Given the description of an element on the screen output the (x, y) to click on. 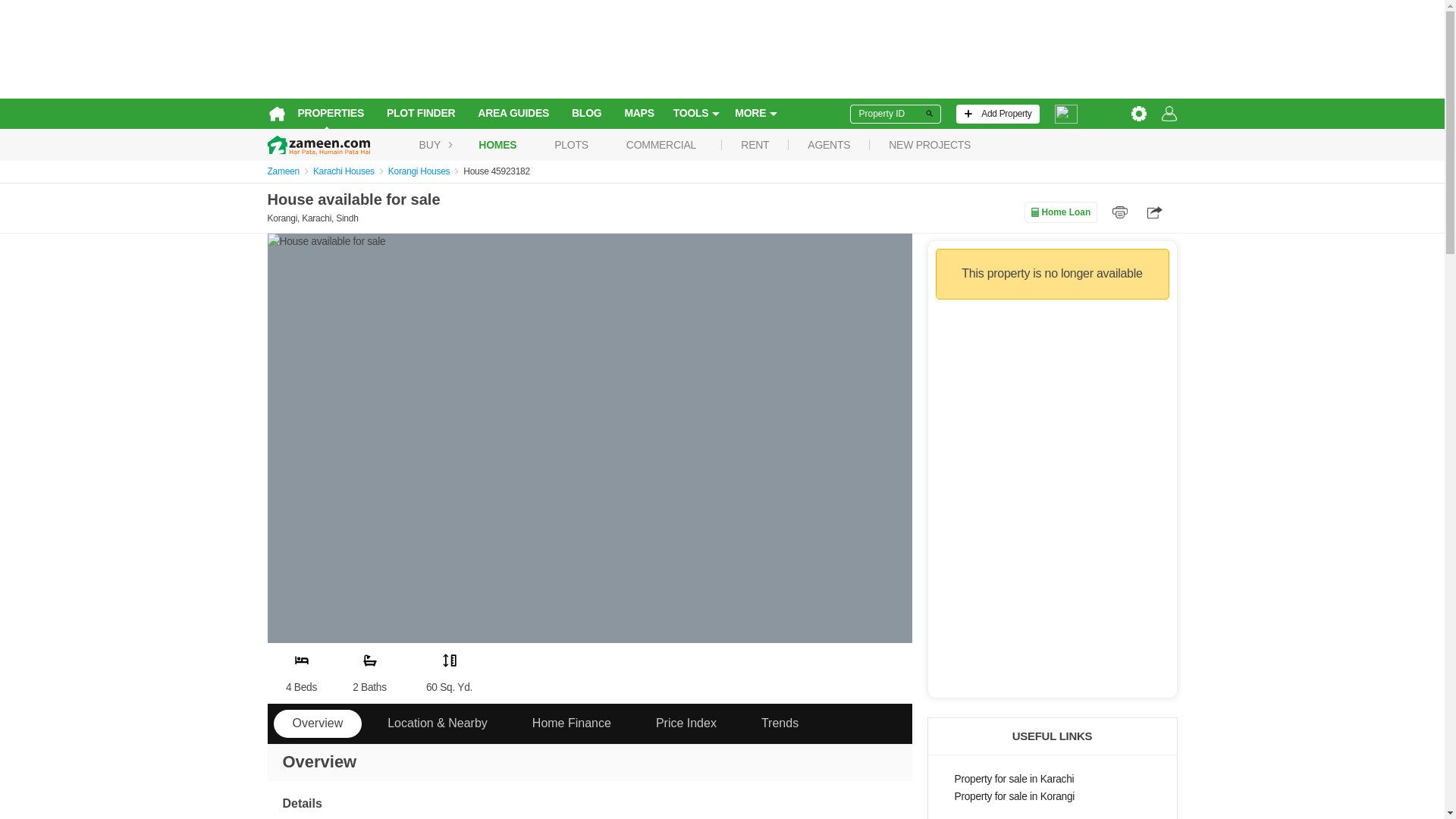
PLOT FINDER (420, 113)
BLOG (586, 113)
Property for sale in Pakistan (430, 144)
BUY (430, 144)
COMMERCIAL (660, 144)
Home (275, 113)
MORE (755, 113)
Properties (330, 113)
Korangi Houses (418, 171)
Maps (638, 113)
